Given the description of an element on the screen output the (x, y) to click on. 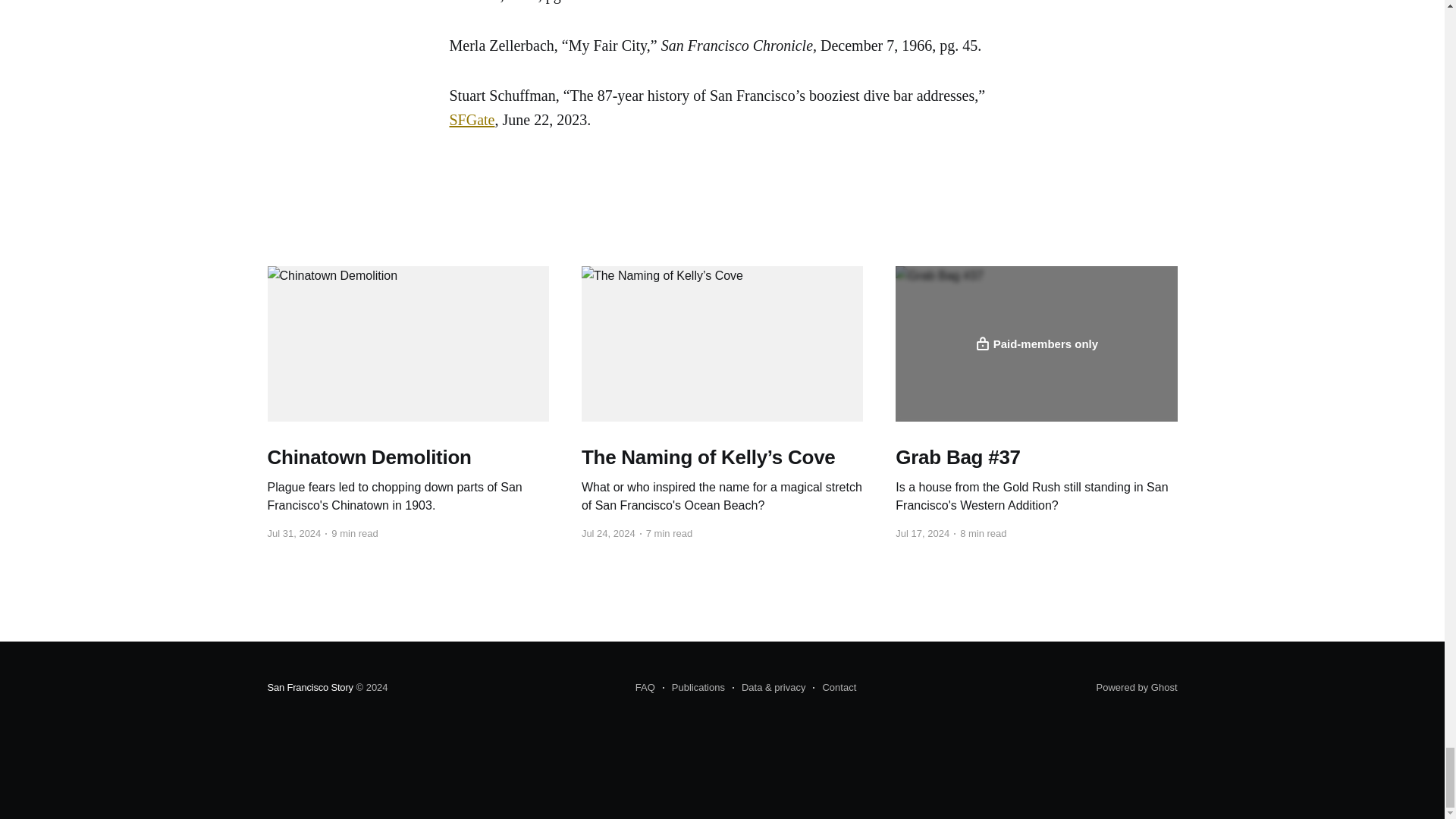
Contact (834, 687)
SFGate (471, 119)
FAQ (644, 687)
San Francisco Story (309, 686)
Paid-members only (1035, 343)
Publications (693, 687)
Powered by Ghost (1136, 686)
